Given the description of an element on the screen output the (x, y) to click on. 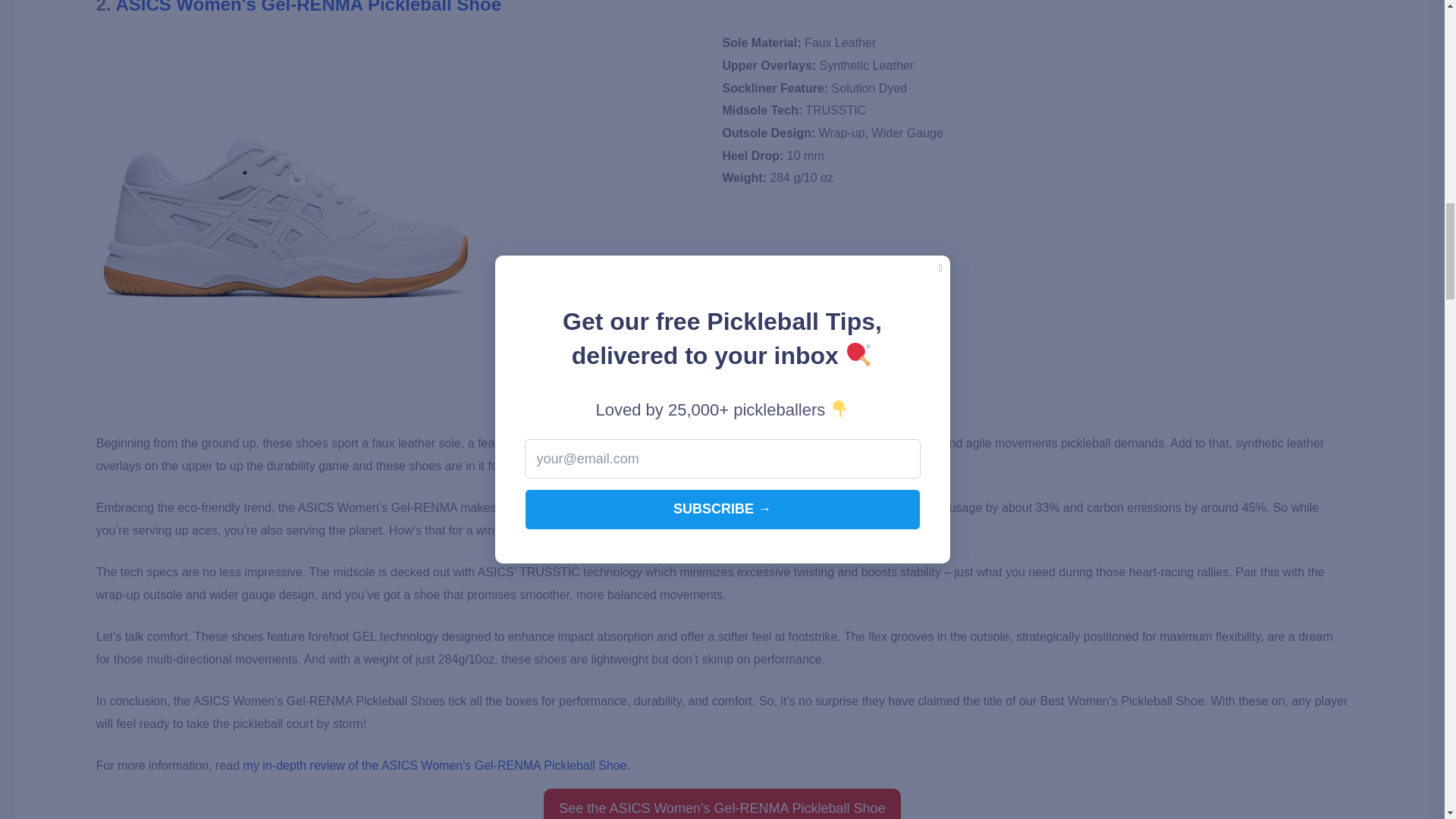
See the ASICS Women's Gel-RENMA Pickleball Shoe (721, 803)
See the ASICS Women's Gel-RENMA Pickleball Shoe (721, 803)
ASICS Women's Gel-RENMA Pickleball Shoe (309, 7)
ASICS Women's Gel-RENMA Pickleball Shoe (309, 7)
